Given the description of an element on the screen output the (x, y) to click on. 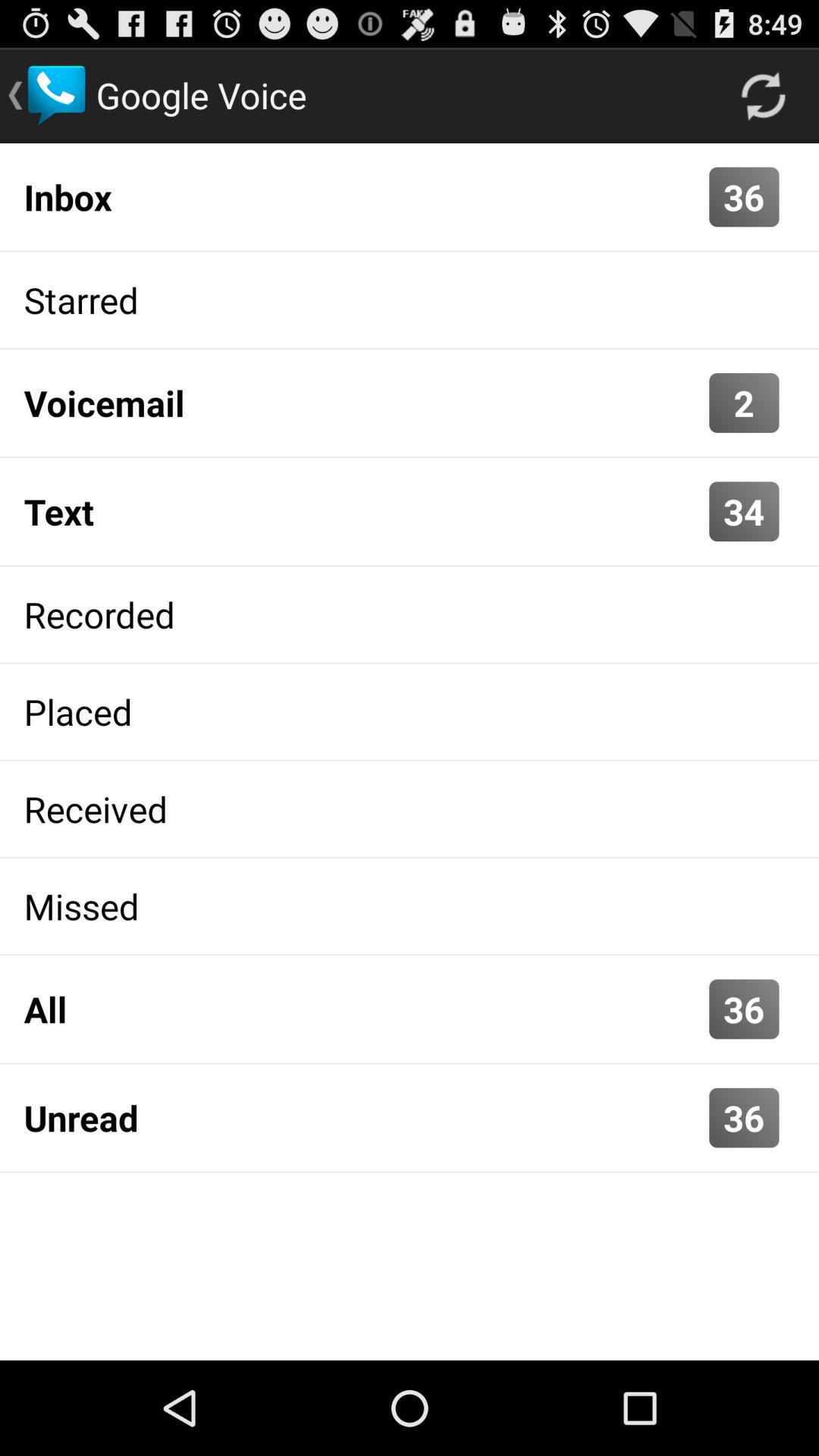
choose recorded icon (409, 614)
